Given the description of an element on the screen output the (x, y) to click on. 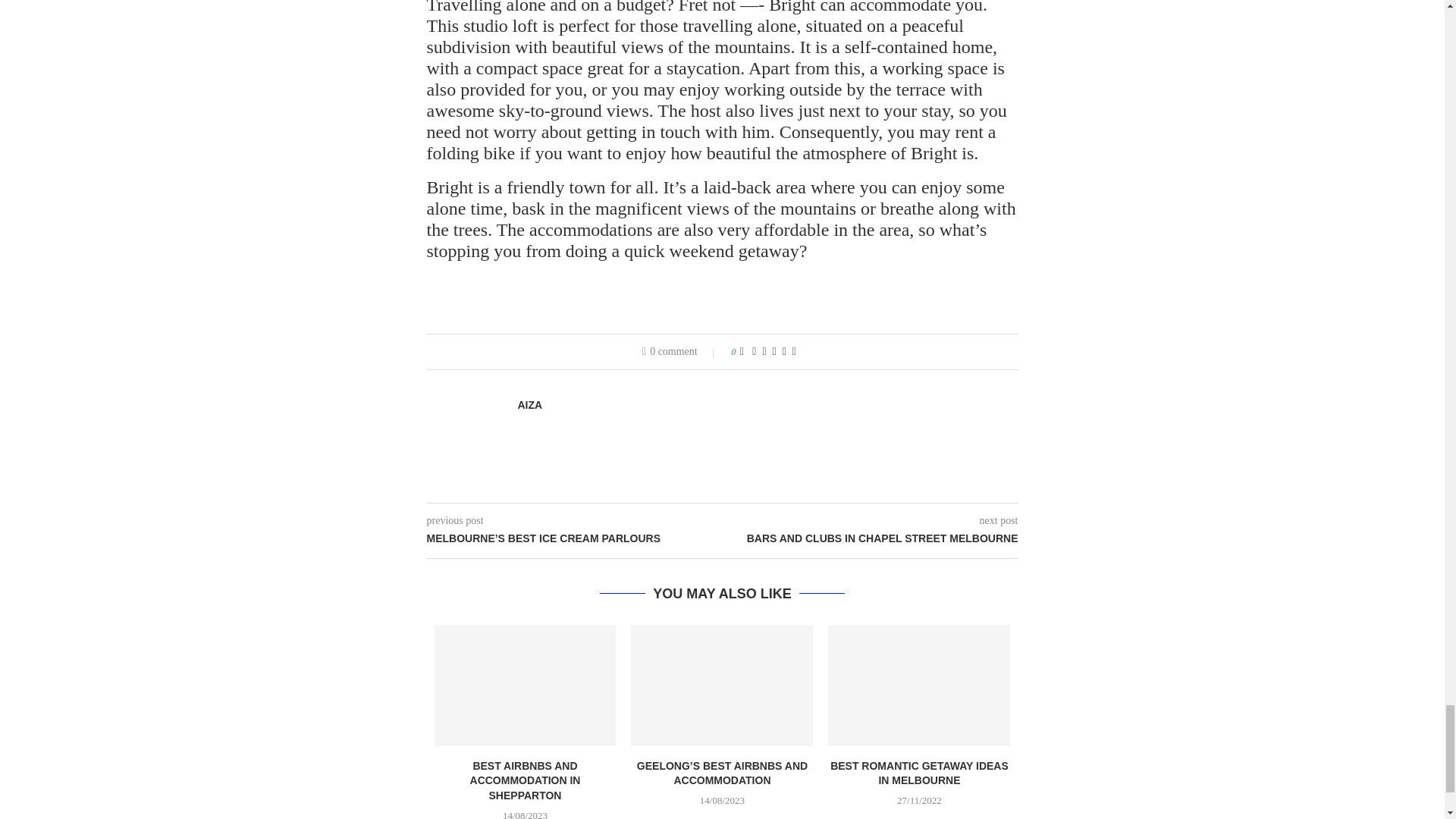
Best Airbnbs and Accommodation in Shepparton (524, 685)
Author Aiza (528, 404)
Best Romantic Getaway ideas in Melbourne (919, 685)
